Given the description of an element on the screen output the (x, y) to click on. 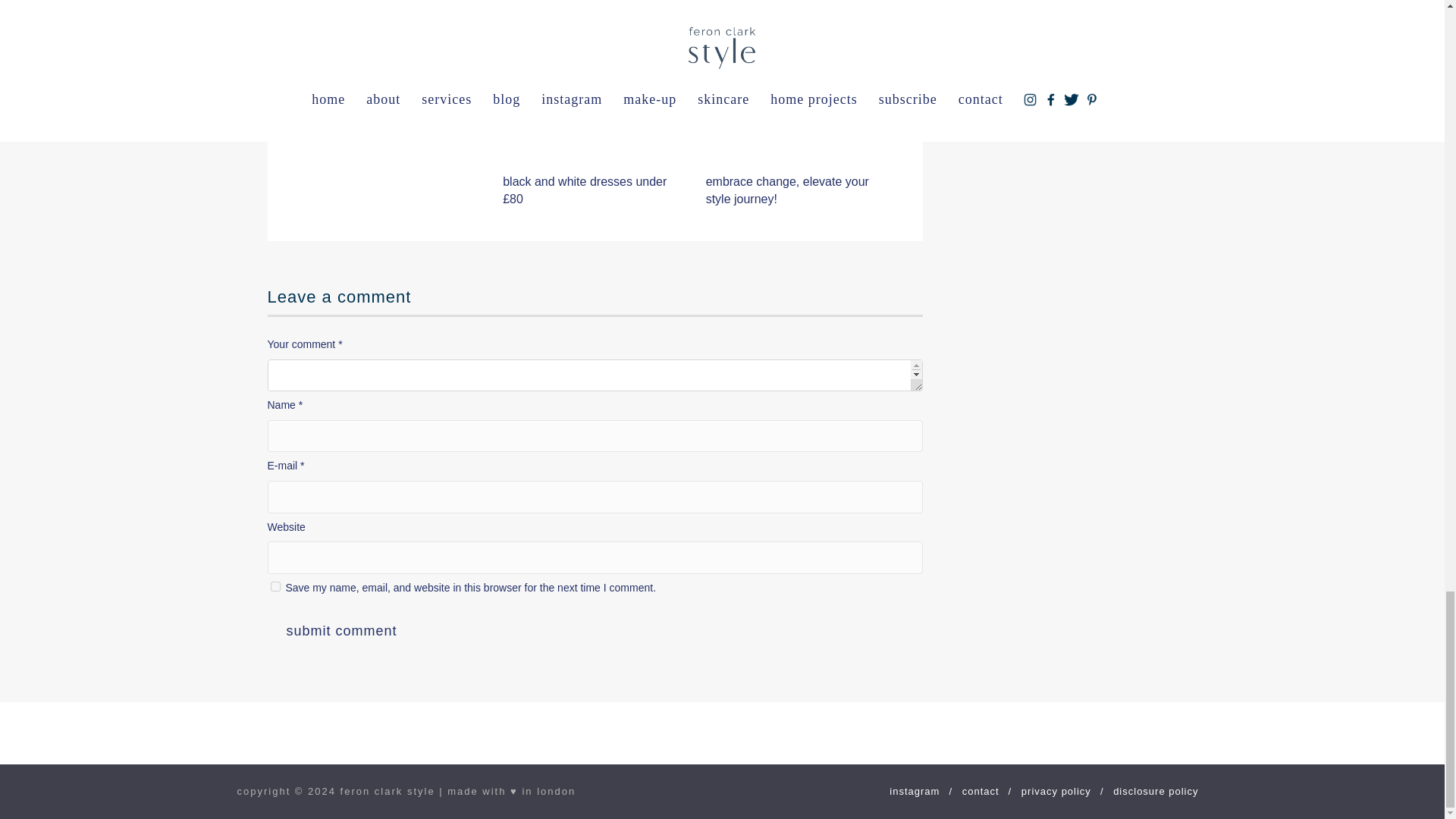
Submit comment (340, 630)
yes (274, 586)
embrace change, elevate your style journey!  (787, 189)
